Given the description of an element on the screen output the (x, y) to click on. 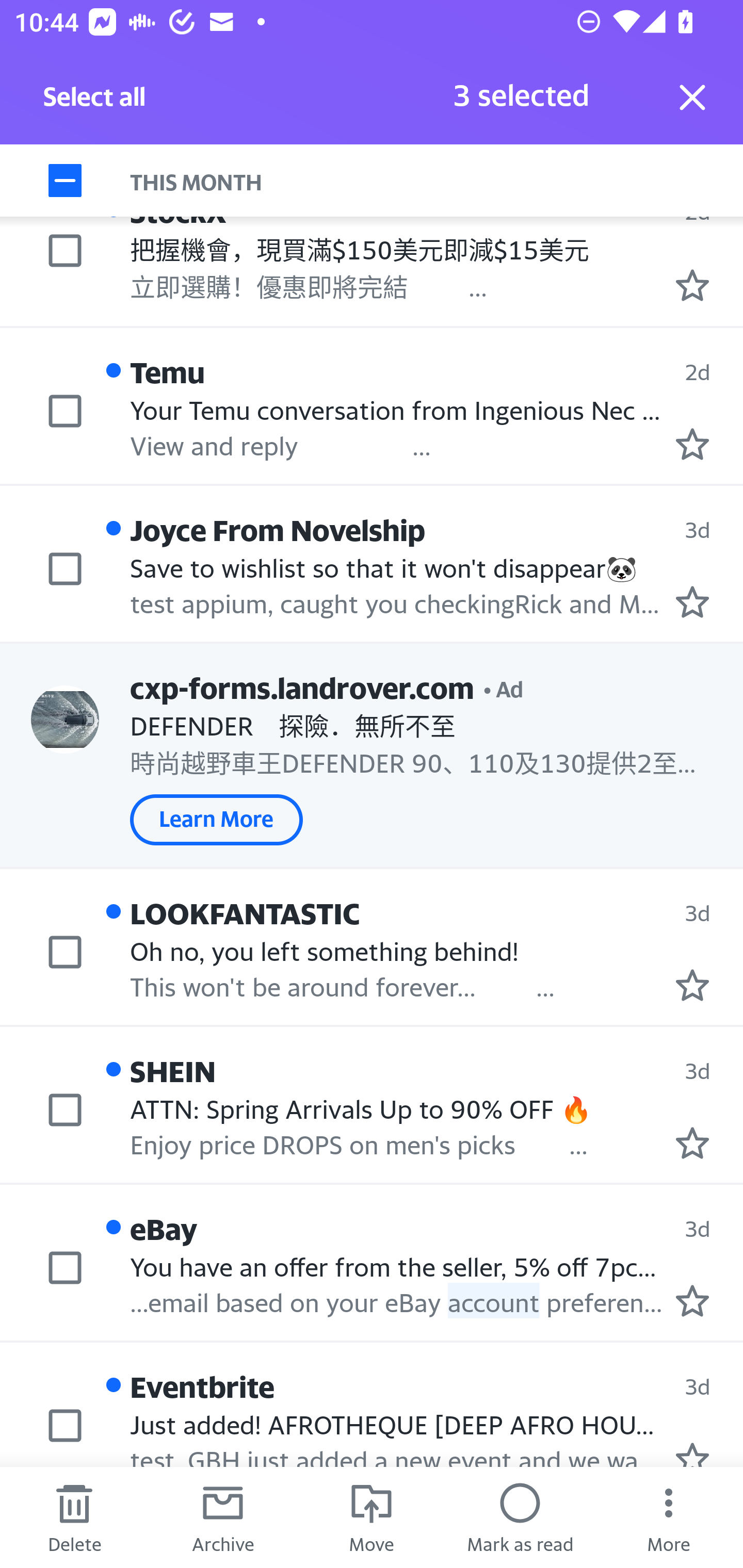
Exit selection mode (692, 97)
Select all (94, 101)
Mark as starred. (692, 284)
Mark as starred. (692, 444)
Mark as starred. (692, 601)
Mark as starred. (692, 985)
Mark as starred. (692, 1142)
Mark as starred. (692, 1300)
Mark as starred. (692, 1453)
Delete (74, 1517)
Archive (222, 1517)
Move (371, 1517)
Mark as read (519, 1517)
More (668, 1517)
